Given the description of an element on the screen output the (x, y) to click on. 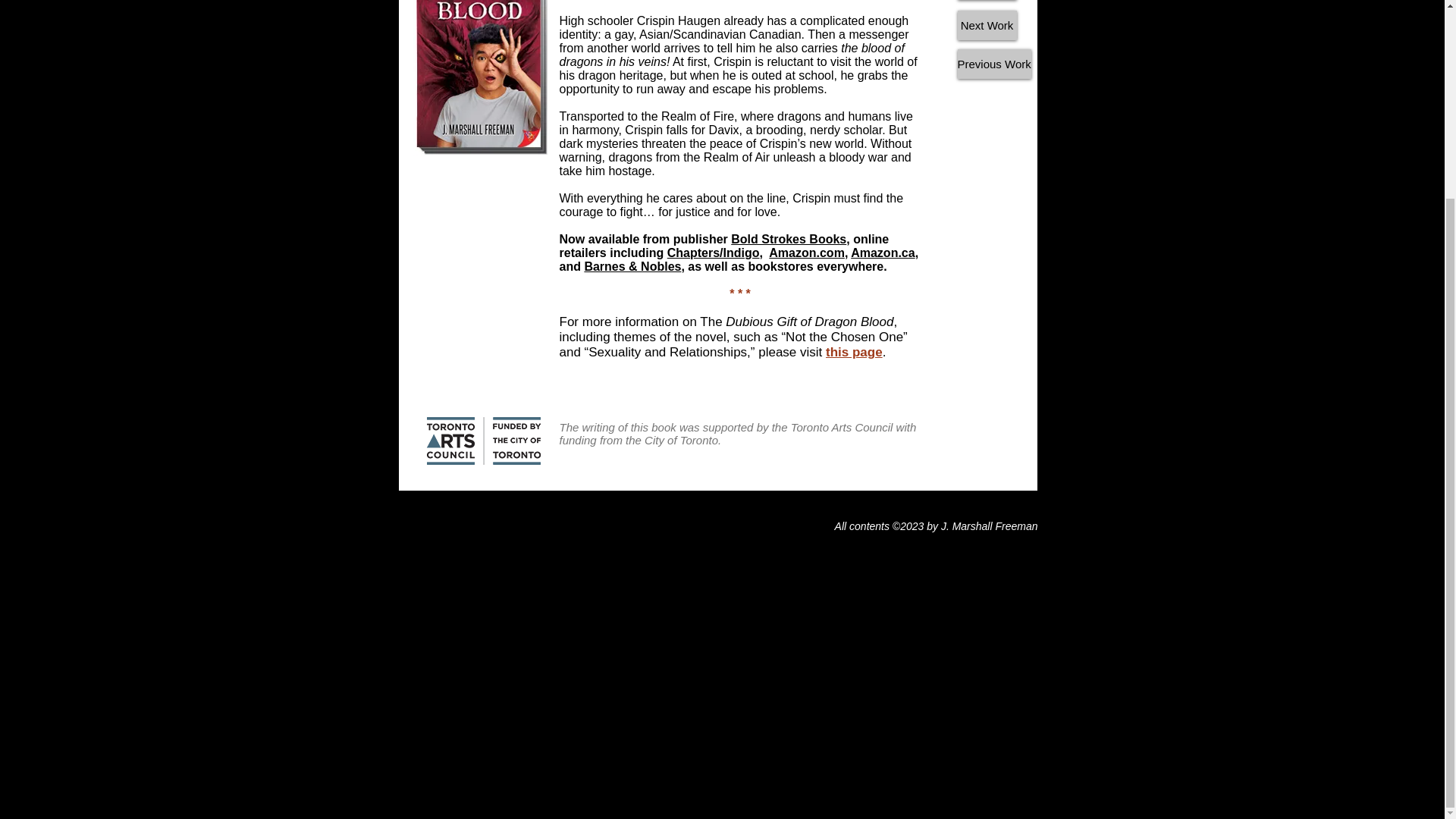
this page (853, 351)
Amazon.com (806, 252)
Bold Strokes Books (787, 238)
Amazon.ca (882, 252)
Previous Work (993, 63)
Next Work (986, 25)
